Given the description of an element on the screen output the (x, y) to click on. 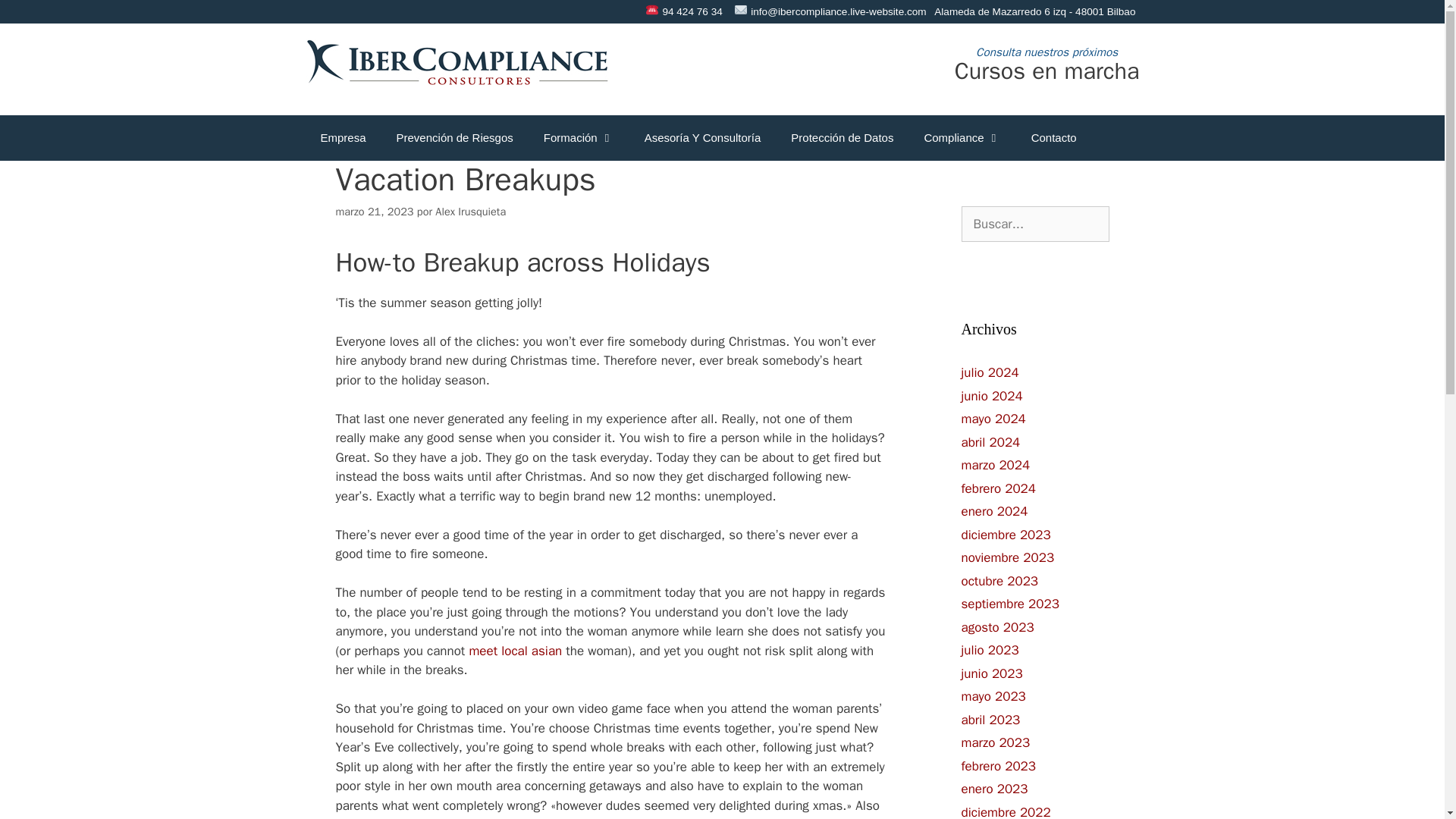
septiembre 2023 (1009, 603)
Compliance (961, 137)
diciembre 2023 (1005, 534)
Ver todas las entradas de Alex Irusquieta (470, 211)
abril 2024 (990, 442)
mayo 2024 (993, 418)
febrero 2024 (997, 488)
Buscar: (1034, 224)
junio 2023 (991, 673)
mayo 2023 (993, 696)
octubre 2023 (999, 580)
marzo 2024 (995, 465)
abril 2023 (990, 719)
marzo 2023 (995, 742)
meet local asian (515, 650)
